Given the description of an element on the screen output the (x, y) to click on. 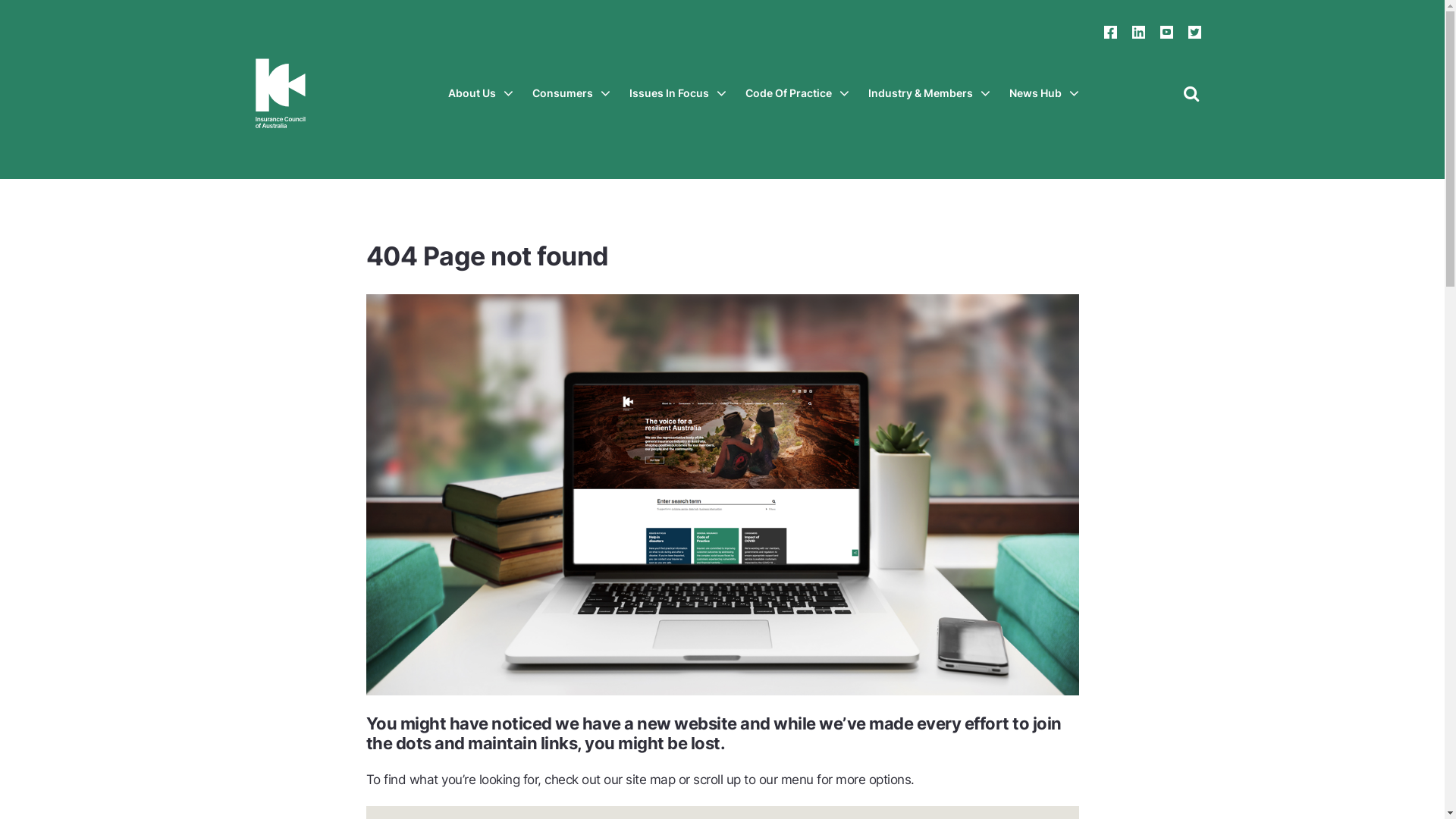
About Us Element type: text (479, 92)
Issues In Focus Element type: text (677, 92)
News Hub Element type: text (1043, 92)
Consumers Element type: text (571, 92)
Industry & Members Element type: text (928, 92)
Code Of Practice Element type: text (796, 92)
